Given the description of an element on the screen output the (x, y) to click on. 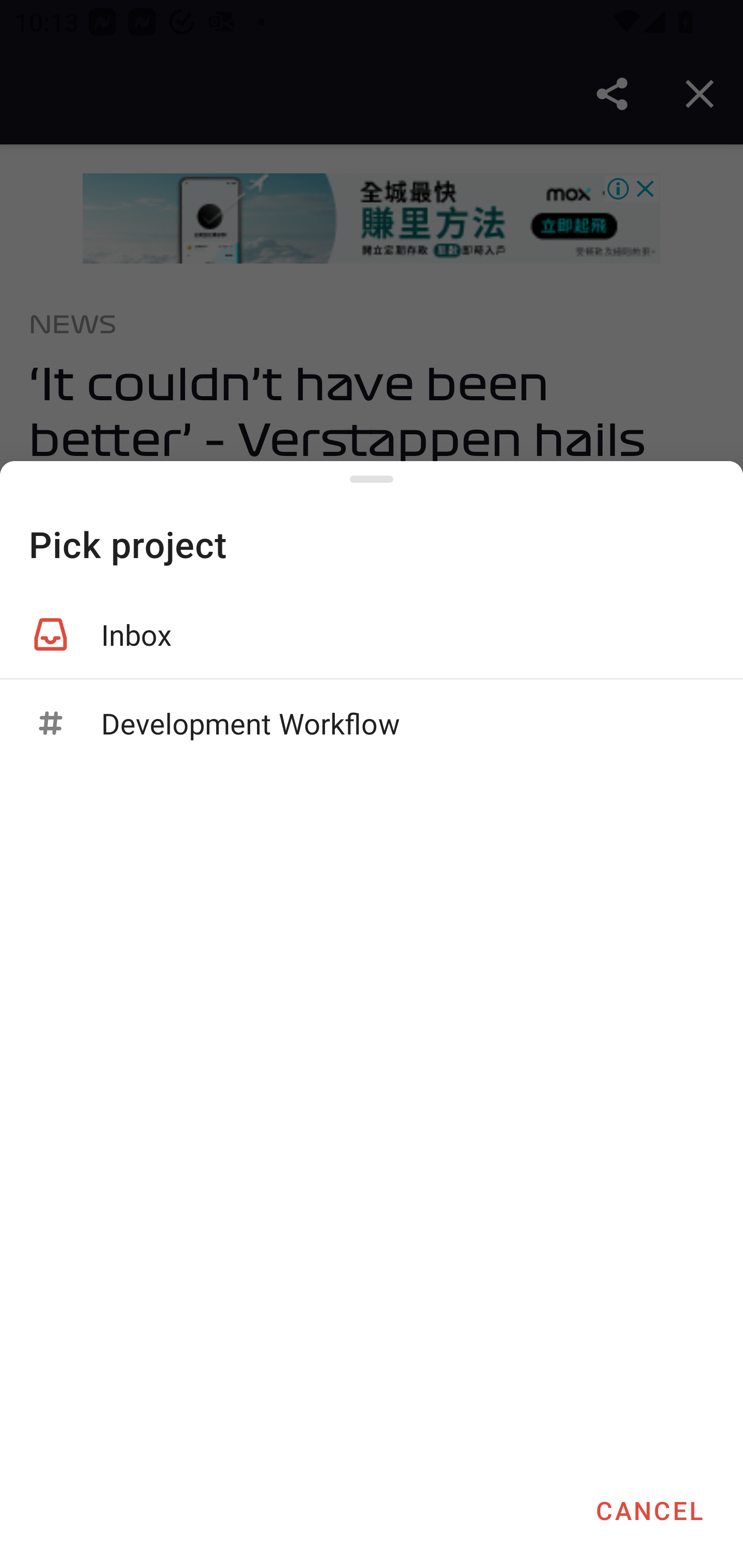
Inbox (371, 634)
Development Workflow (371, 723)
CANCEL (648, 1510)
